Given the description of an element on the screen output the (x, y) to click on. 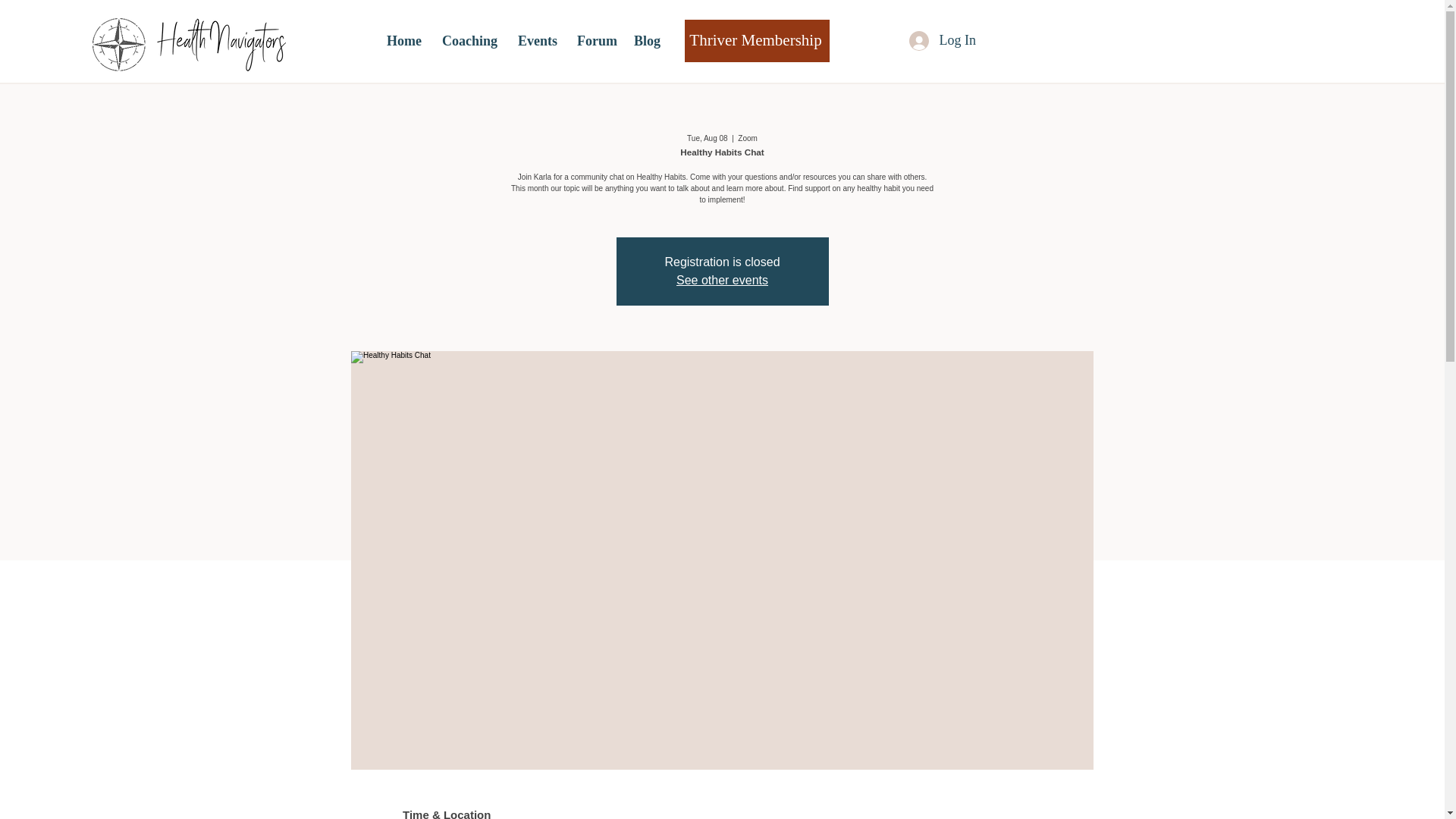
Blog (645, 40)
Thriver Membership (756, 40)
Coaching (468, 40)
Forum (594, 40)
See other events (722, 279)
Log In (942, 40)
Home (402, 40)
Events (536, 40)
